Given the description of an element on the screen output the (x, y) to click on. 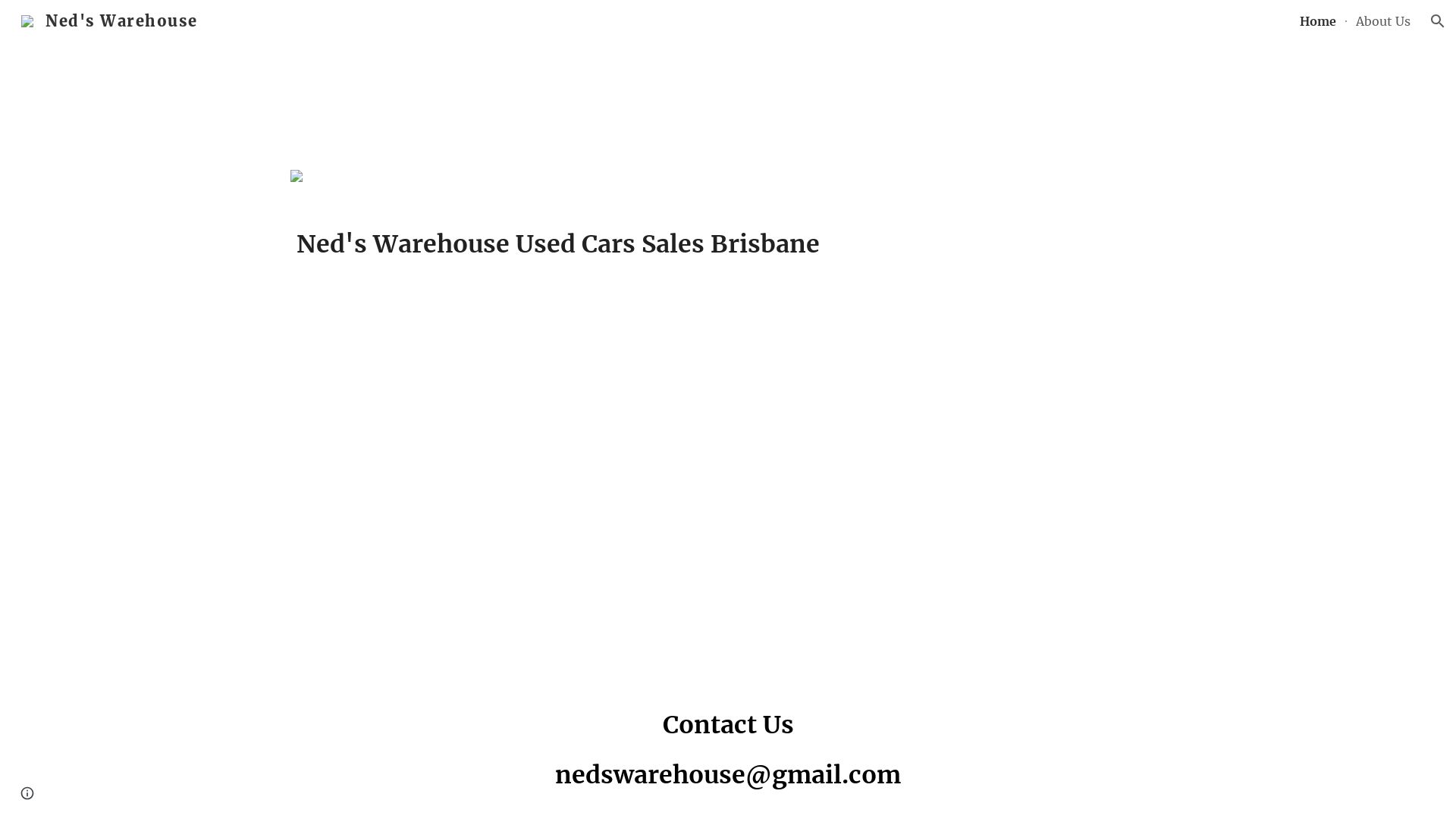
About Us Element type: text (1382, 20)
Home Element type: text (1317, 20)
Ned's Warehouse Element type: text (109, 19)
